Given the description of an element on the screen output the (x, y) to click on. 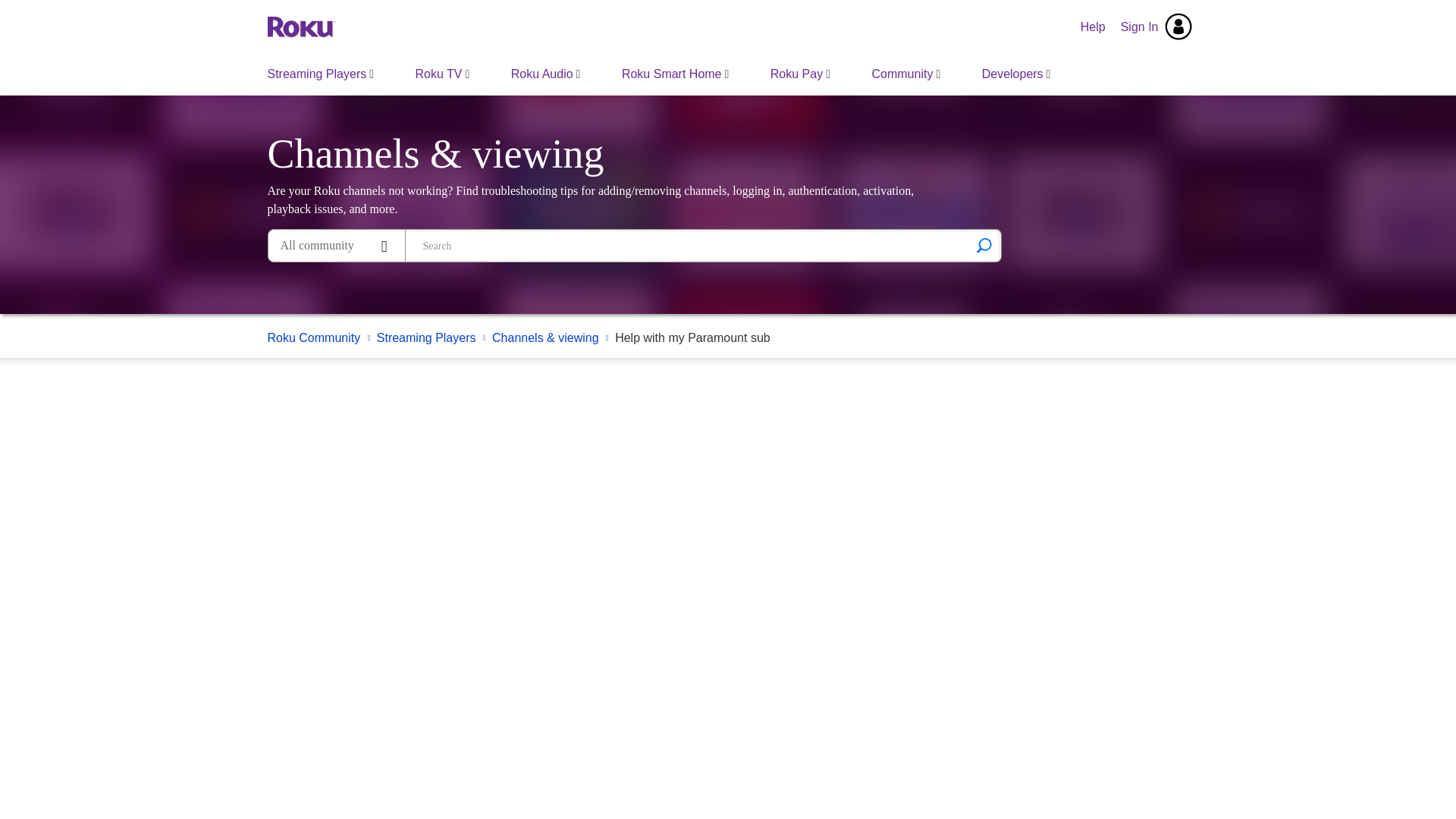
Community (905, 73)
Streaming Players (320, 73)
Roku Pay (799, 73)
Roku Smart Home (675, 73)
Search (983, 245)
Roku Audio (545, 73)
Search (686, 245)
Search (983, 245)
Search (983, 245)
Developers (1016, 73)
